Given the description of an element on the screen output the (x, y) to click on. 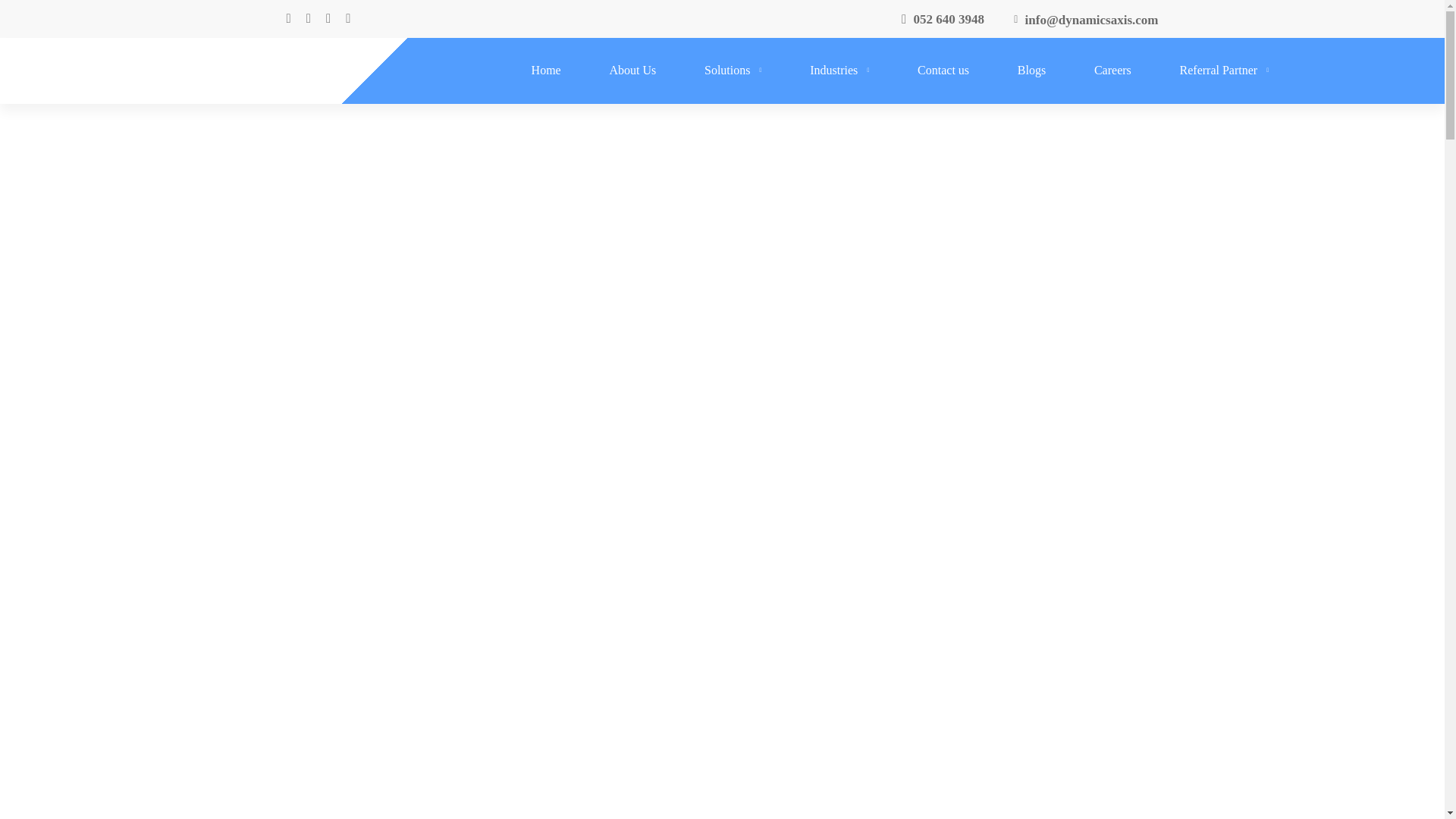
052 640 3948 (942, 19)
Careers (1112, 70)
Home (545, 70)
Solutions (732, 70)
Blogs (1031, 70)
About Us (632, 70)
Contact us (943, 70)
Referral Partner (1224, 70)
Get a free consultation (722, 626)
Industries (839, 70)
